Given the description of an element on the screen output the (x, y) to click on. 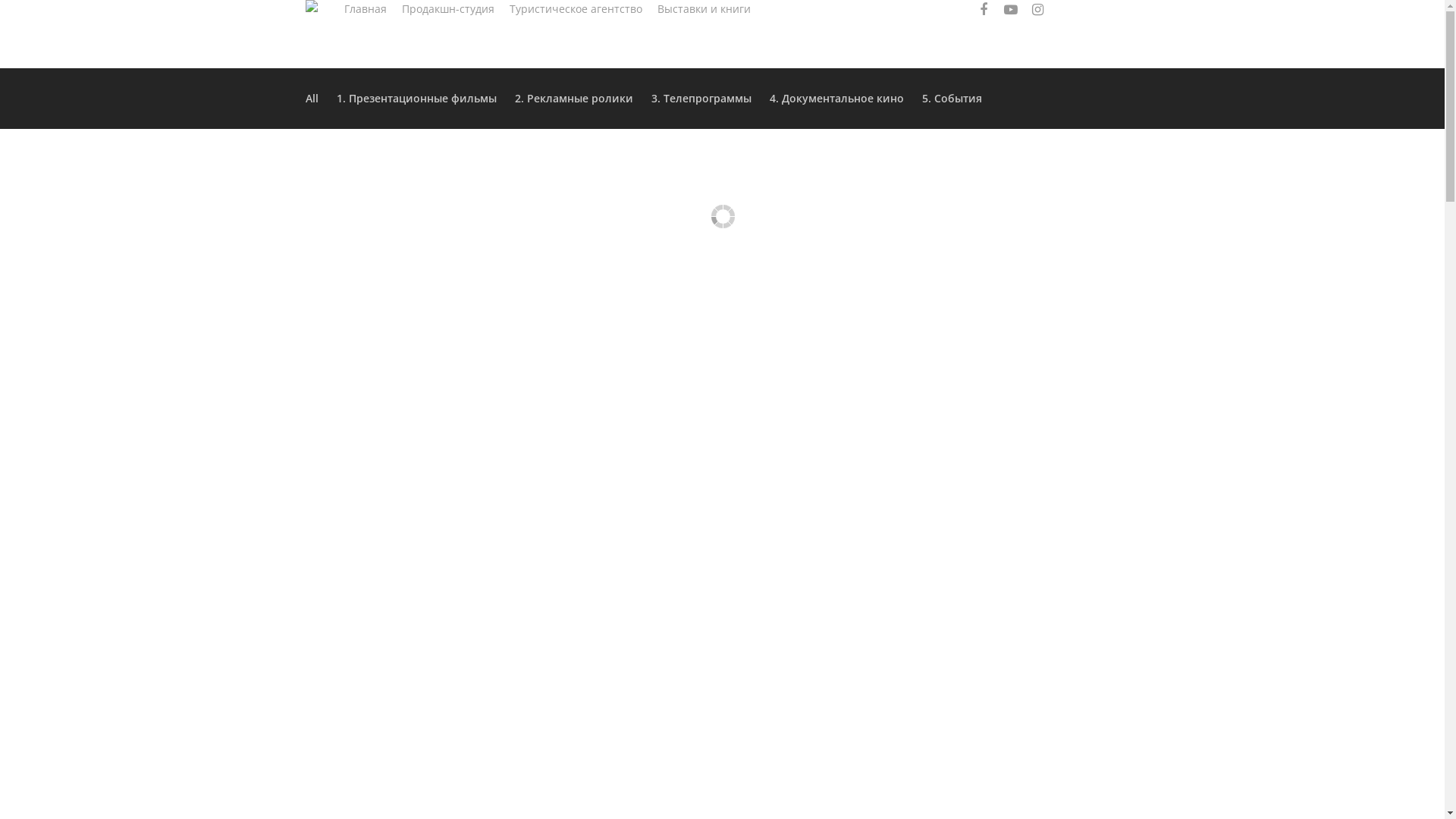
All Element type: text (314, 98)
